Given the description of an element on the screen output the (x, y) to click on. 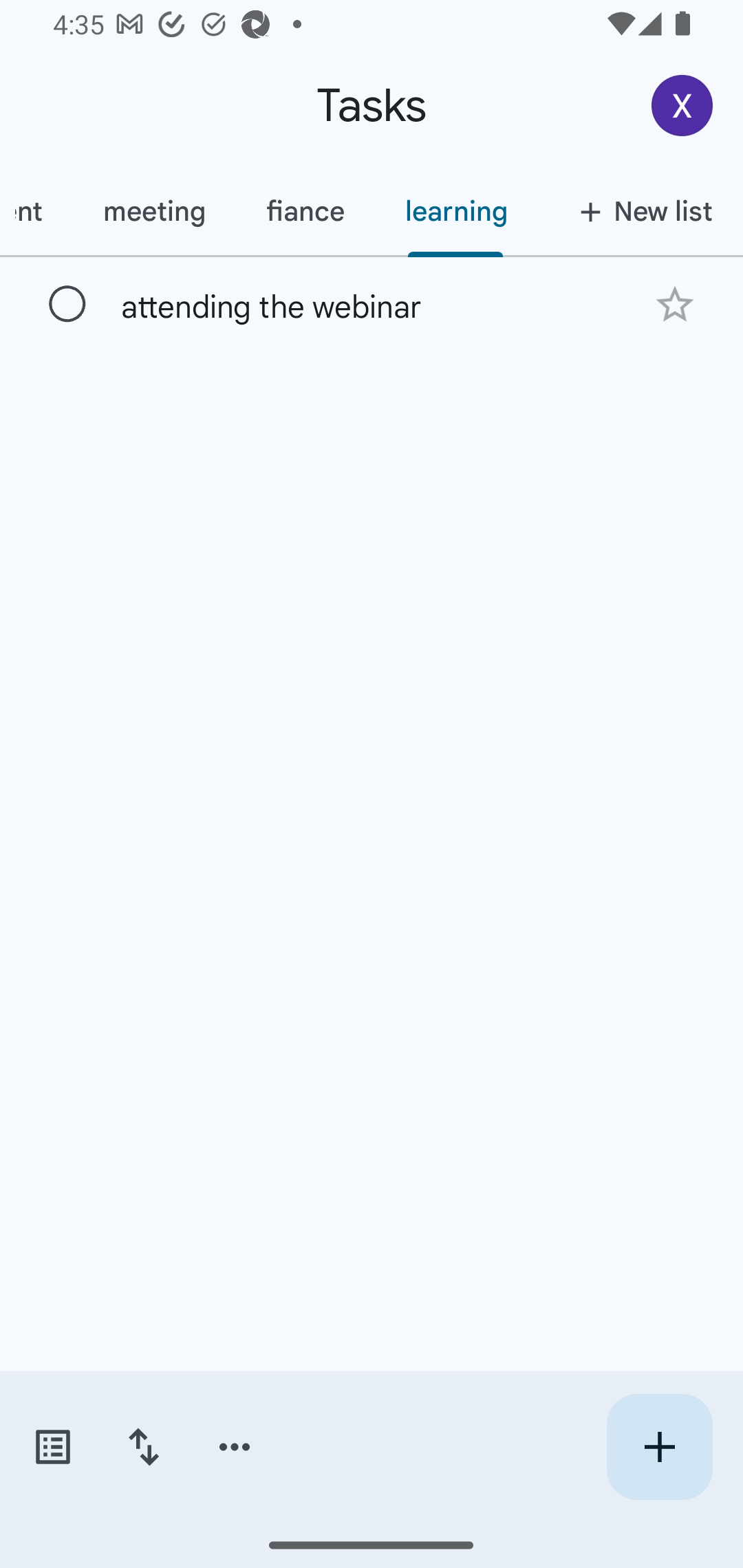
meeting (153, 211)
fiance (304, 211)
New list (640, 211)
Add star (674, 303)
Mark as complete (67, 304)
Switch task lists (52, 1447)
Create new task (659, 1446)
Change sort order (143, 1446)
More options (234, 1446)
